Given the description of an element on the screen output the (x, y) to click on. 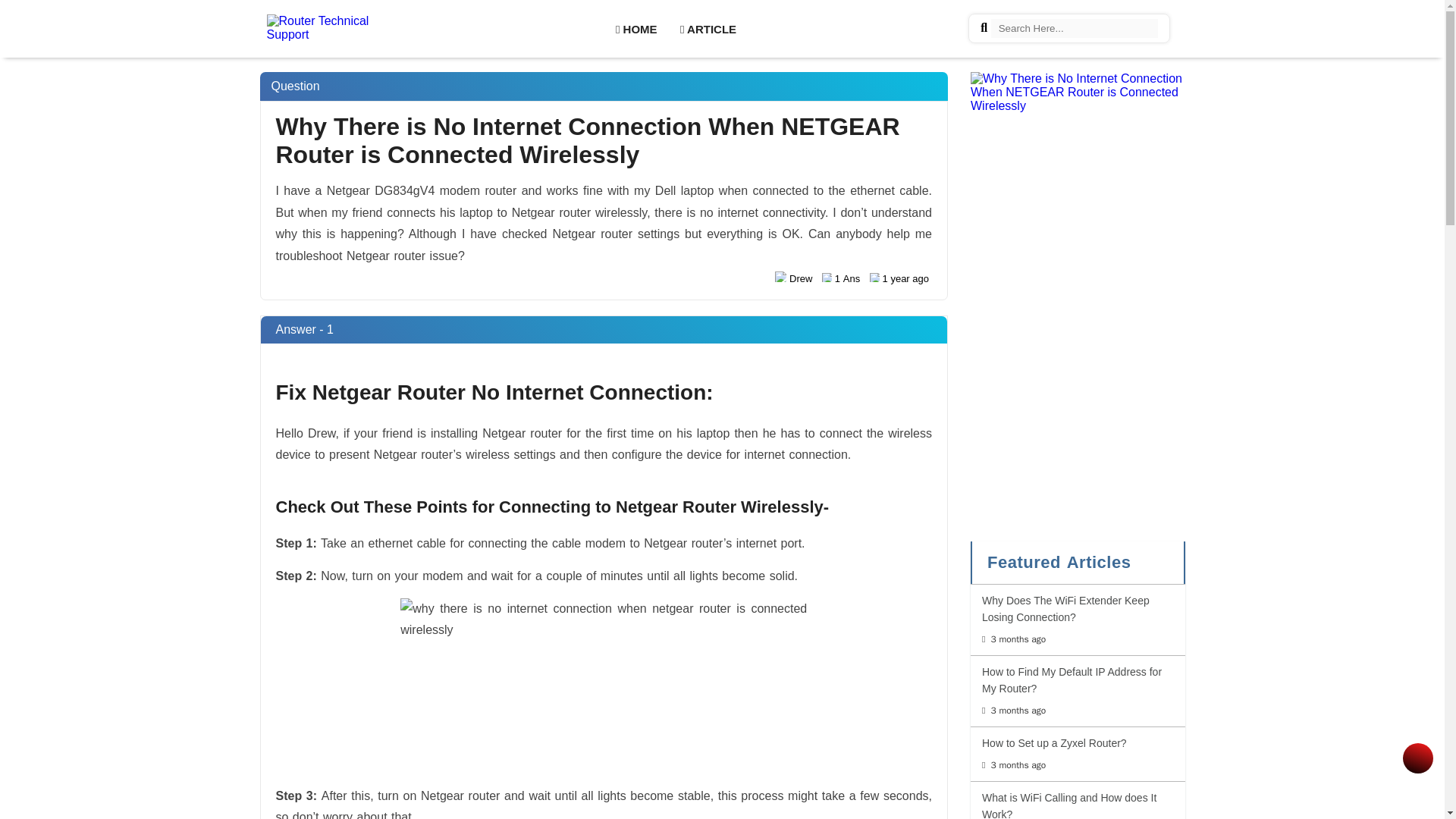
HOME (1077, 804)
ARTICLE (636, 27)
